Given the description of an element on the screen output the (x, y) to click on. 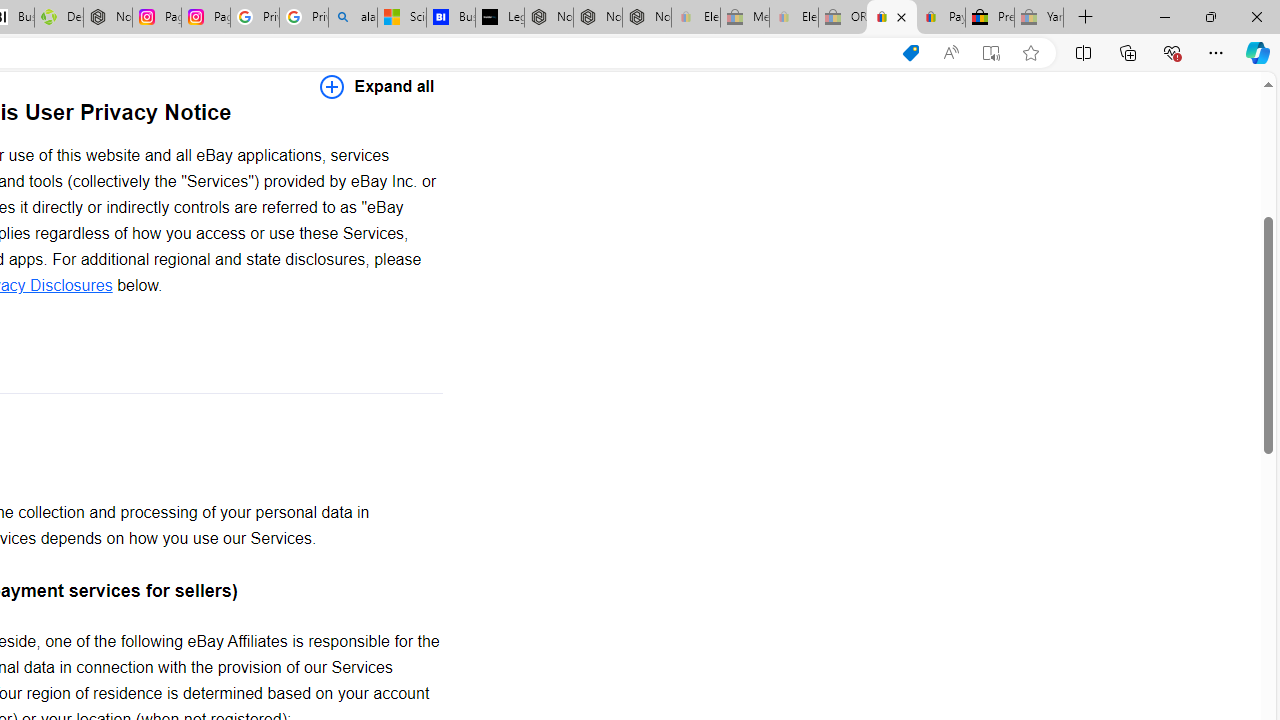
alabama high school quarterback dies - Search (353, 17)
User Privacy Notice | eBay (891, 17)
Yard, Garden & Outdoor Living - Sleeping (1039, 17)
Press Room - eBay Inc. (989, 17)
This site has coupons! Shopping in Microsoft Edge (910, 53)
Descarga Driver Updater (58, 17)
